Given the description of an element on the screen output the (x, y) to click on. 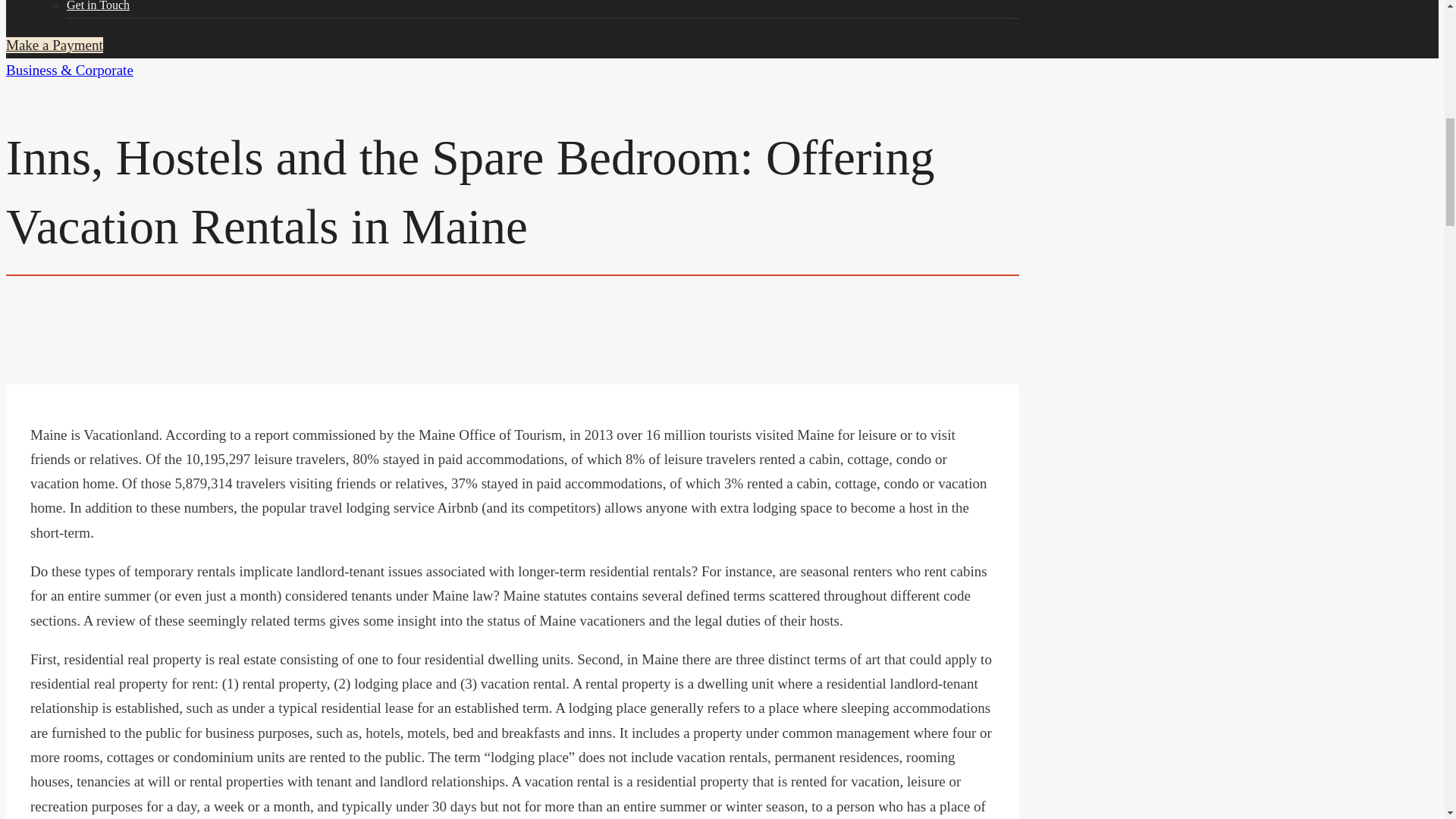
Make a Payment (54, 44)
Get in Touch (542, 9)
